Given the description of an element on the screen output the (x, y) to click on. 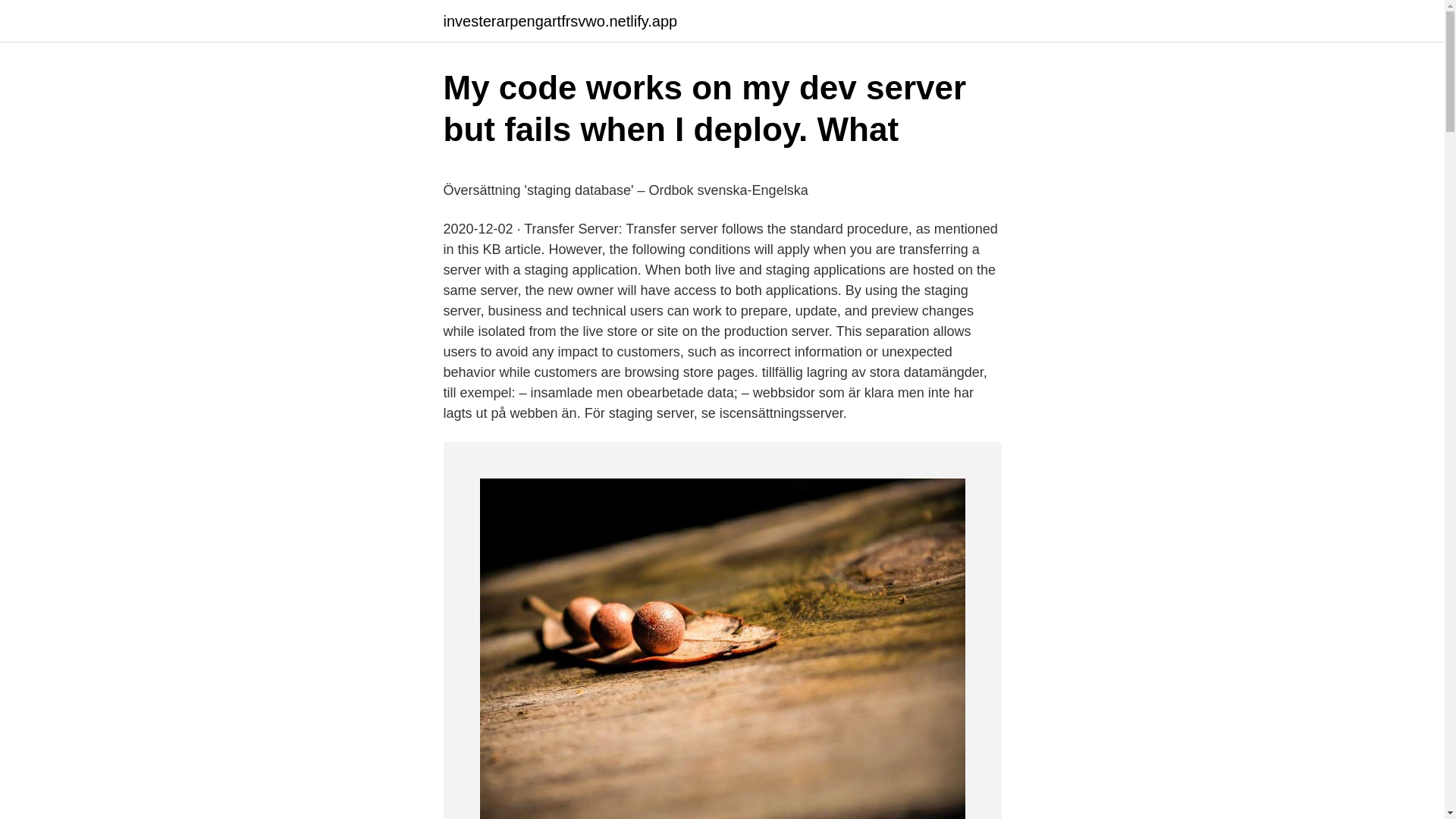
investerarpengartfrsvwo.netlify.app (559, 20)
